Given the description of an element on the screen output the (x, y) to click on. 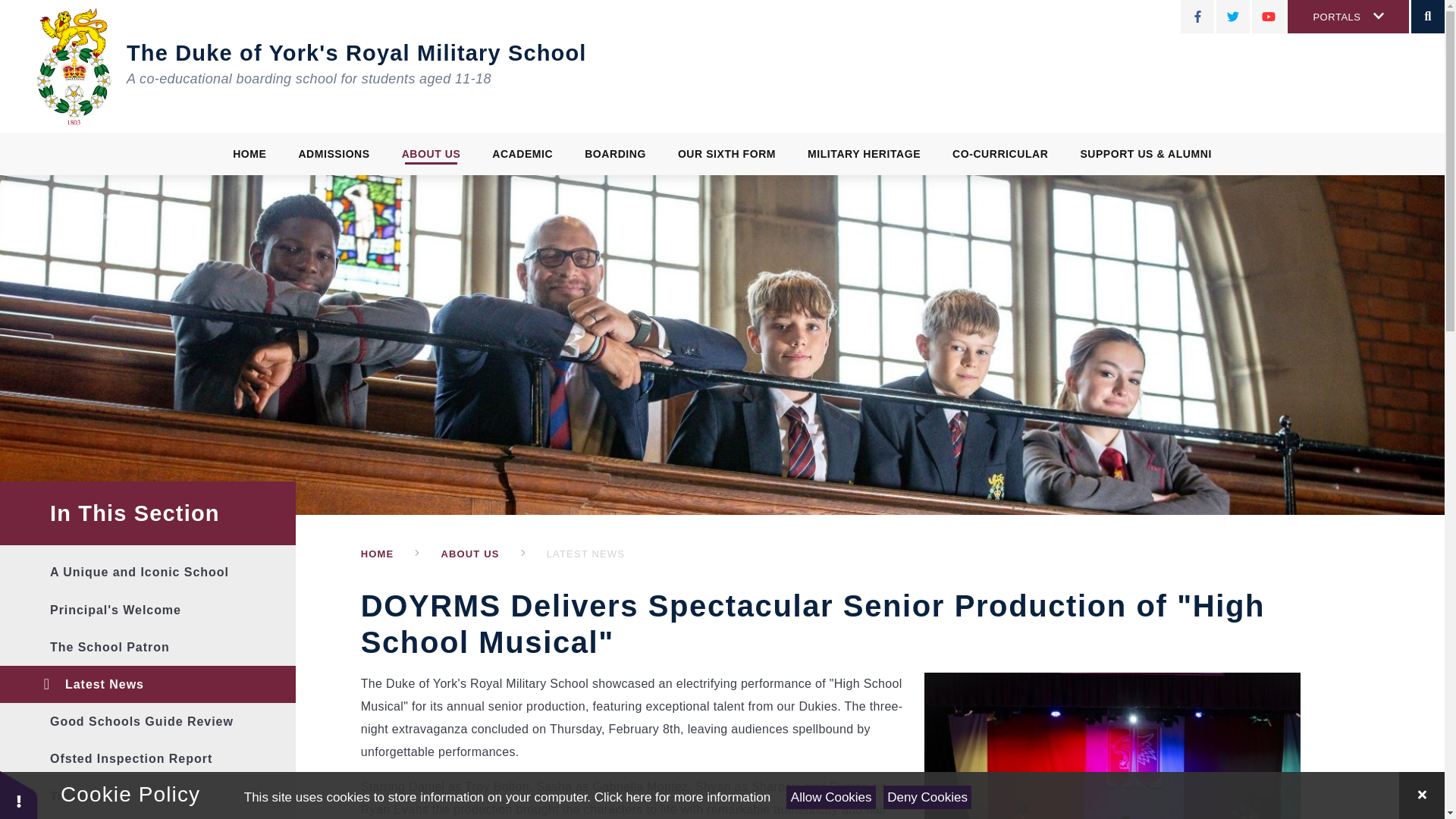
HOME (249, 153)
ADMISSIONS (333, 153)
Deny Cookies (927, 797)
Allow Cookies (830, 797)
ABOUT US (431, 153)
Twitter (1232, 16)
PORTALS (1348, 16)
Facebook (1197, 16)
Youtube (1268, 16)
See cookie policy (682, 797)
